Given the description of an element on the screen output the (x, y) to click on. 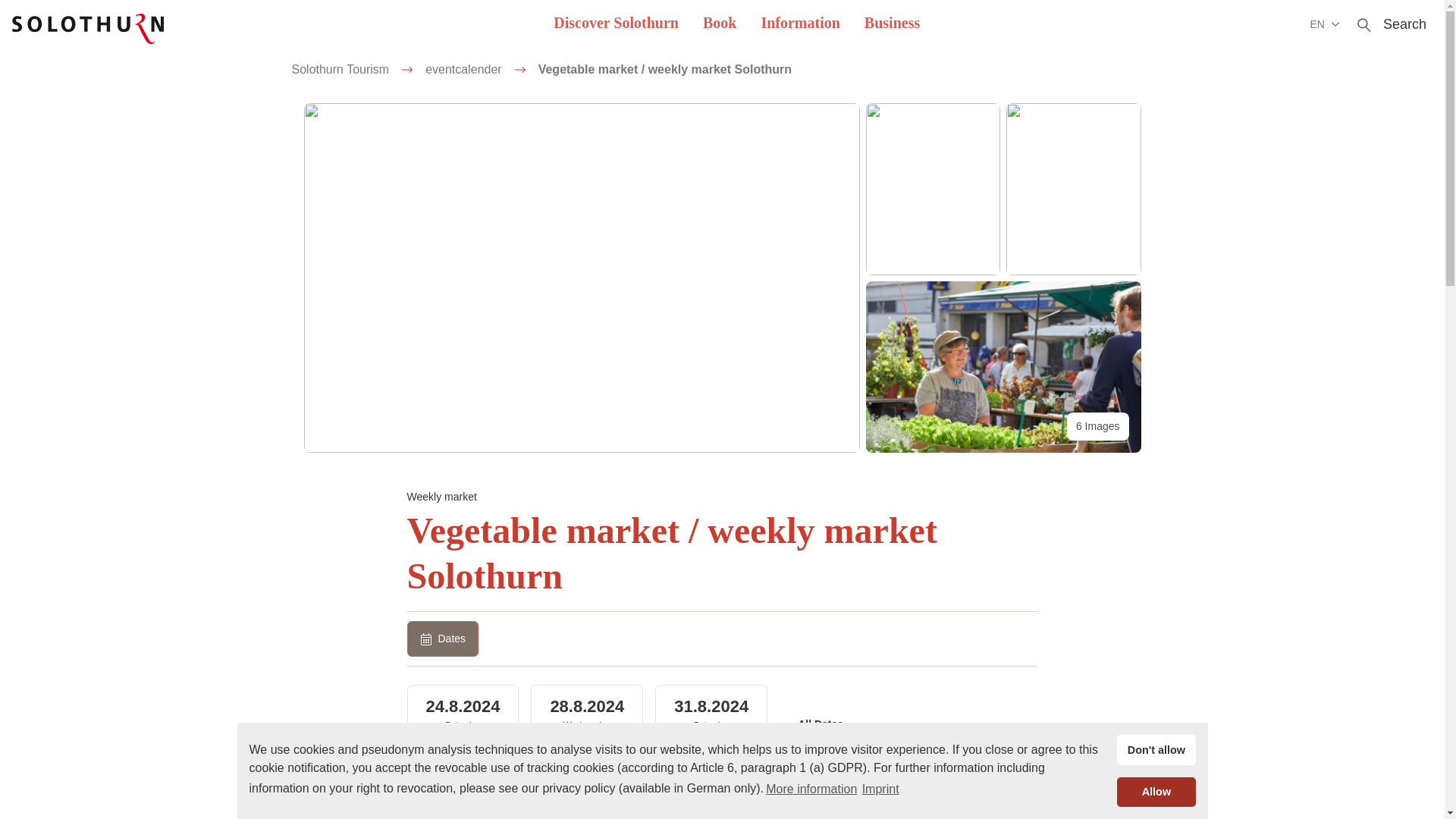
More information (810, 788)
Discover Solothurn (615, 24)
Allow (1155, 791)
Don't allow (1155, 749)
Imprint (880, 788)
